Given the description of an element on the screen output the (x, y) to click on. 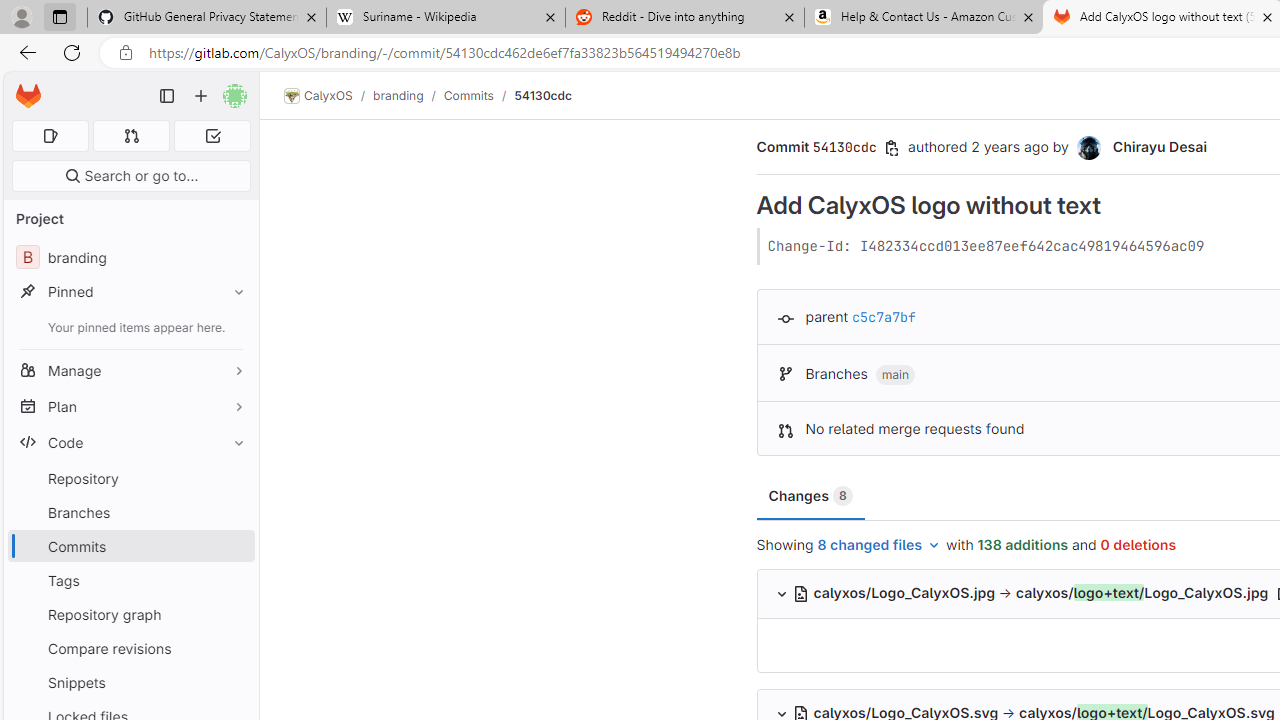
Pin Branches (234, 511)
Chirayu Desai's avatar (1090, 148)
Plan (130, 406)
8 changed files (879, 545)
Plan (130, 406)
GitHub General Privacy Statement - GitHub Docs (207, 17)
Pin Commits (234, 546)
branding (397, 95)
Pin Repository (234, 478)
Pin Tags (234, 580)
Class: s16 (801, 594)
